Given the description of an element on the screen output the (x, y) to click on. 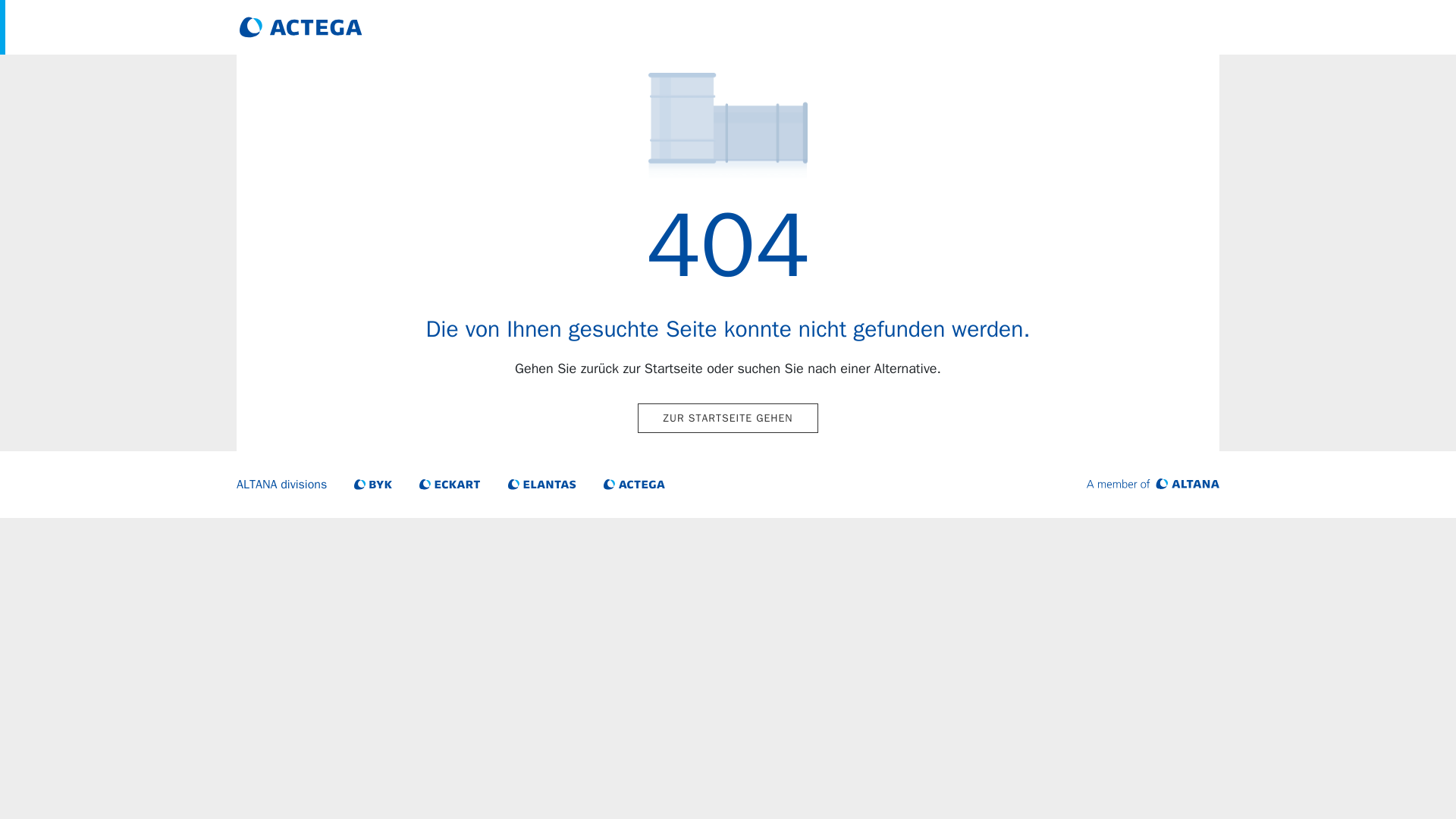
ZUR STARTSEITE GEHEN (726, 418)
